Given the description of an element on the screen output the (x, y) to click on. 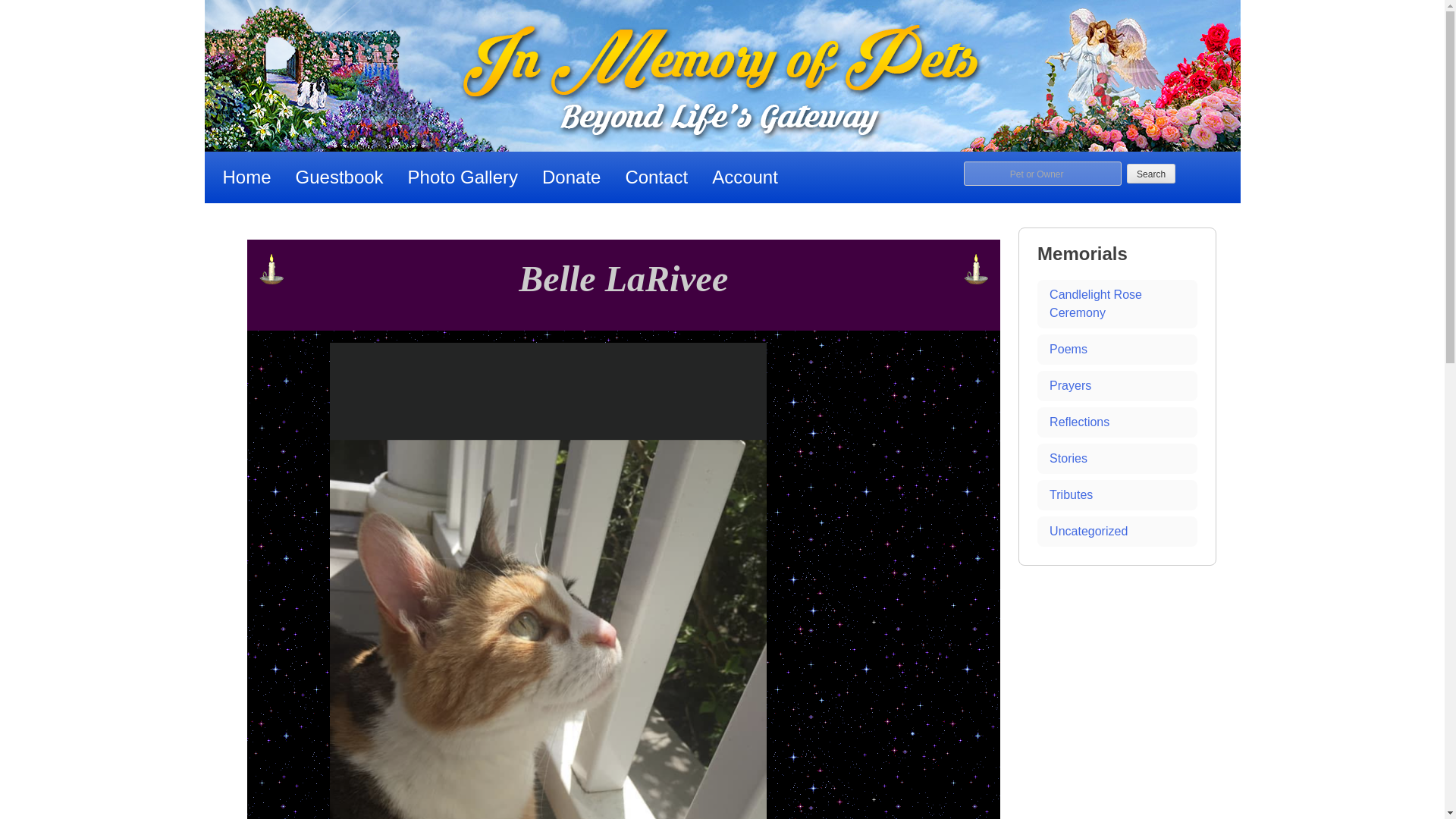
Search (1150, 173)
Stories (1116, 458)
Account (745, 177)
Search (1150, 173)
Prayers (1116, 386)
Photo Gallery (462, 177)
Home (247, 177)
Contact (656, 177)
Guestbook (339, 177)
Poems (1116, 349)
Candlelight Rose Ceremony (1116, 304)
Uncategorized (1116, 531)
Donate (570, 177)
Search (1150, 173)
Tributes (1116, 494)
